Given the description of an element on the screen output the (x, y) to click on. 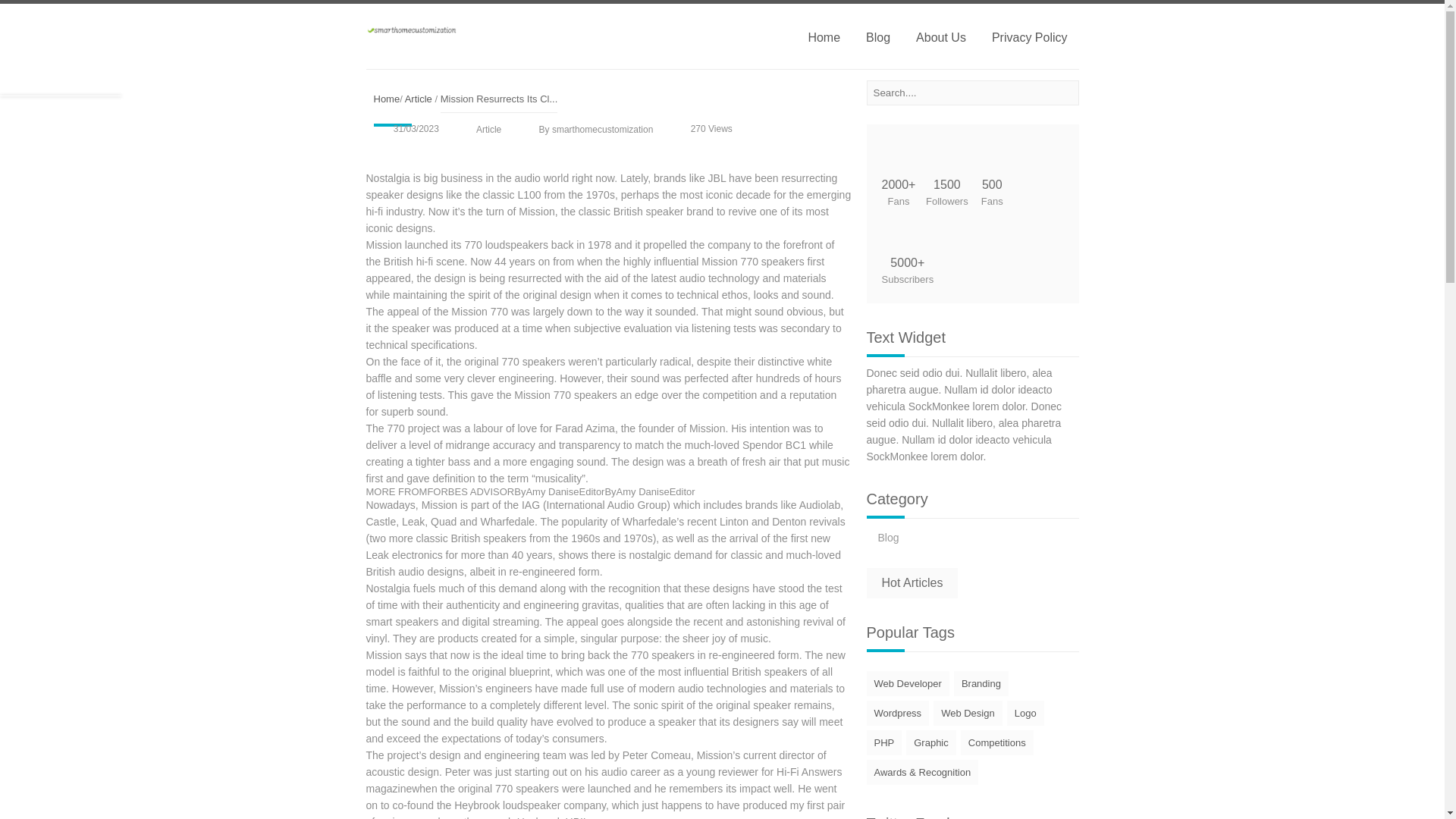
Article (488, 128)
Home (385, 98)
Branding (981, 683)
Blog (888, 537)
Privacy Policy (1028, 36)
smarthomecustomization (411, 29)
Blog (888, 537)
Web Developer (907, 683)
Wordpress (897, 713)
Article (418, 98)
